Given the description of an element on the screen output the (x, y) to click on. 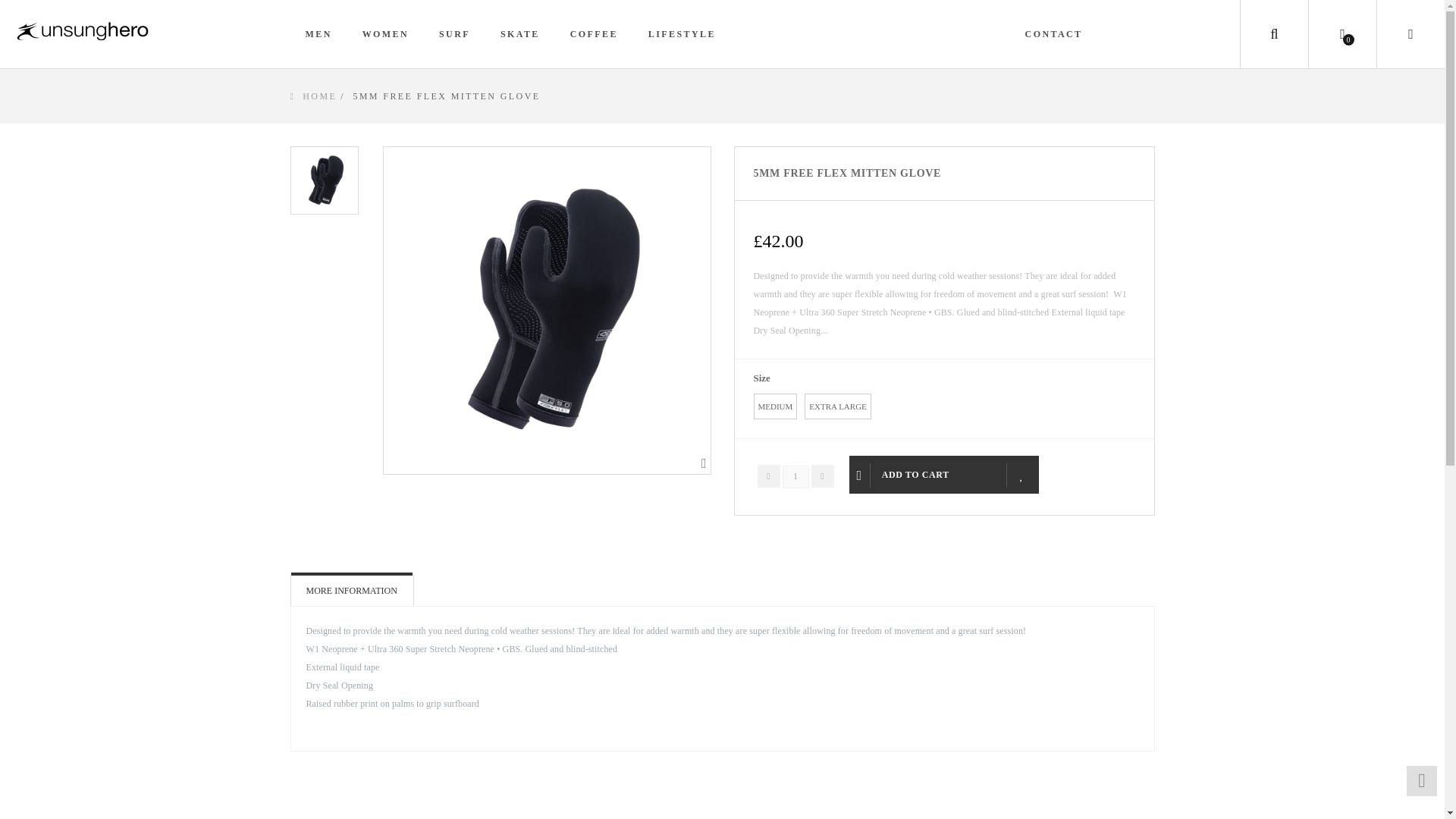
Back to the frontpage (312, 95)
1 (796, 477)
